Given the description of an element on the screen output the (x, y) to click on. 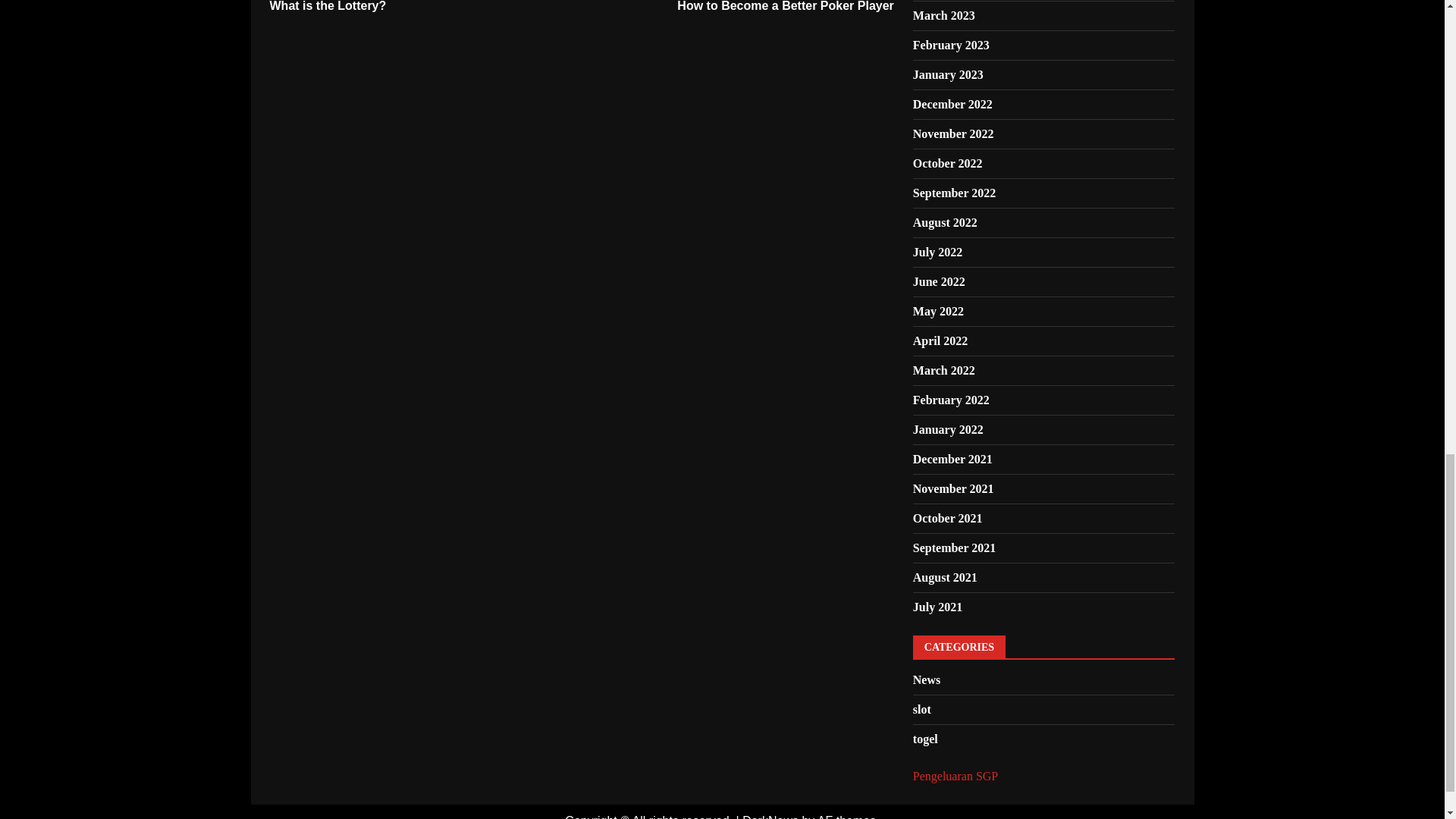
December 2022 (952, 103)
February 2023 (951, 44)
January 2023 (425, 7)
March 2023 (736, 7)
